Given the description of an element on the screen output the (x, y) to click on. 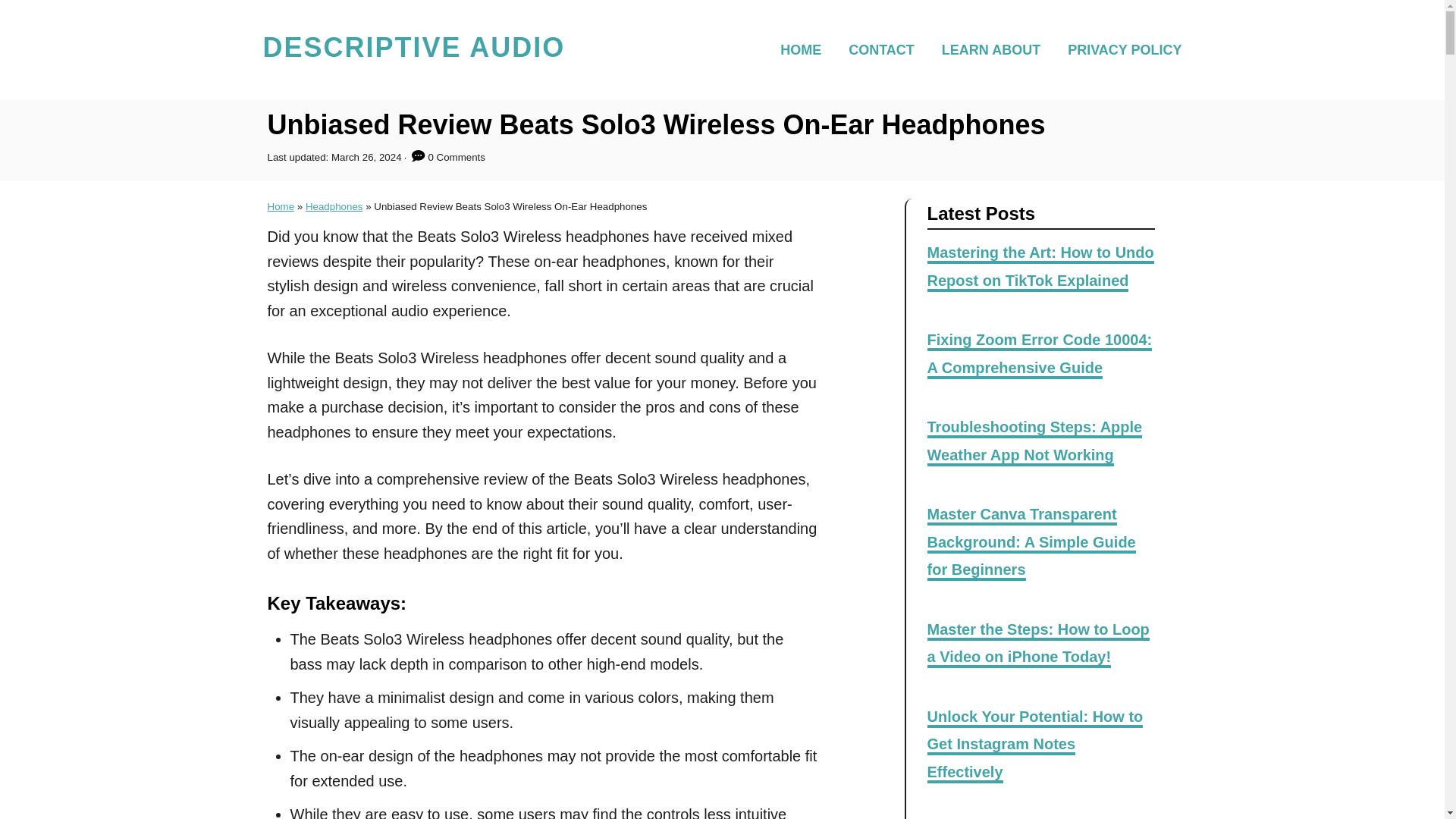
Fixing Zoom Error Code 10004: A Comprehensive Guide (1038, 355)
CONTACT (886, 49)
Headphones (333, 206)
HOME (805, 49)
LEARN ABOUT (995, 49)
Master the Steps: How to Loop a Video on iPhone Today! (1037, 644)
PRIVACY POLICY (1119, 49)
Troubleshooting Steps: Apple Weather App Not Working (1033, 442)
